Given the description of an element on the screen output the (x, y) to click on. 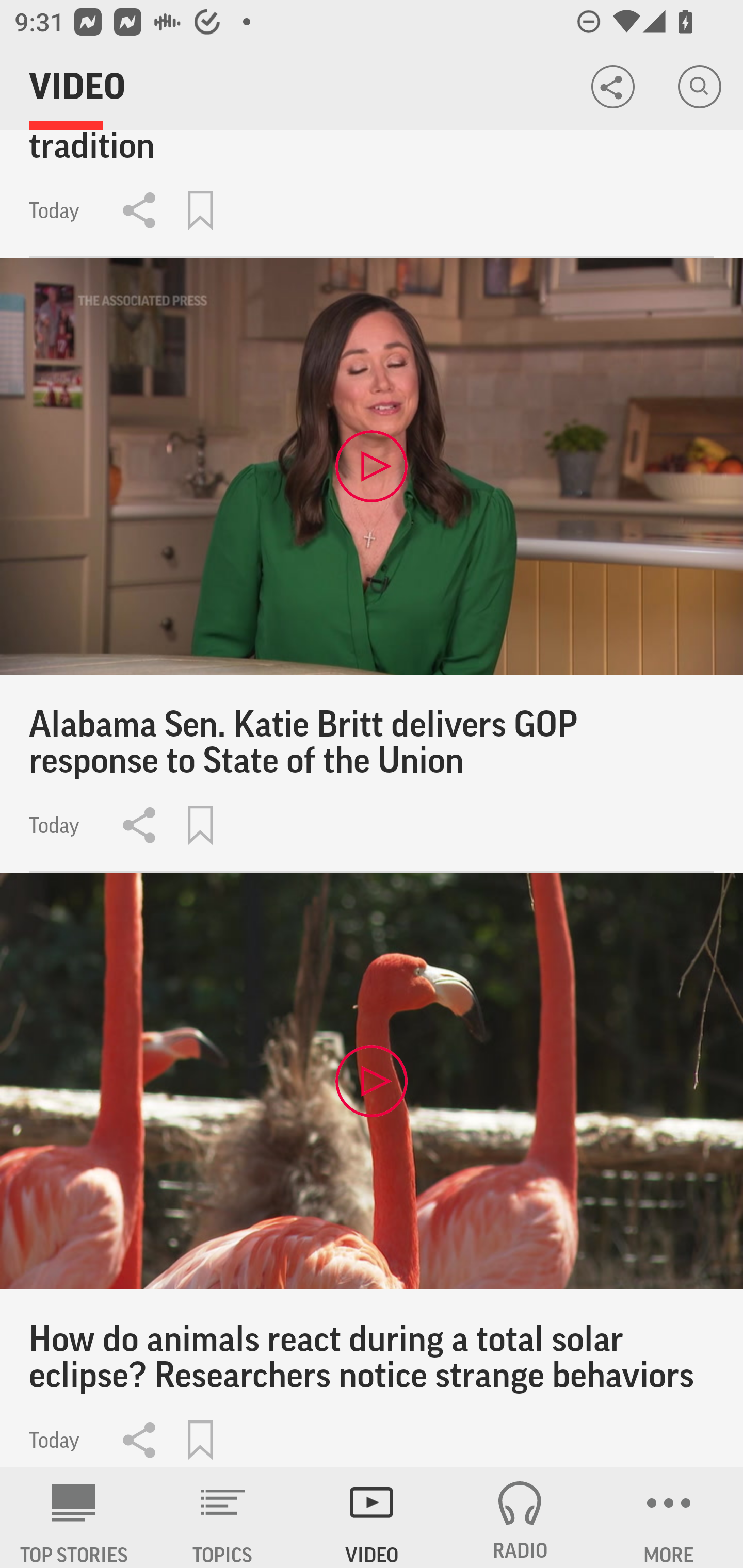
AP News TOP STORIES (74, 1517)
TOPICS (222, 1517)
VIDEO (371, 1517)
RADIO (519, 1517)
MORE (668, 1517)
